Given the description of an element on the screen output the (x, y) to click on. 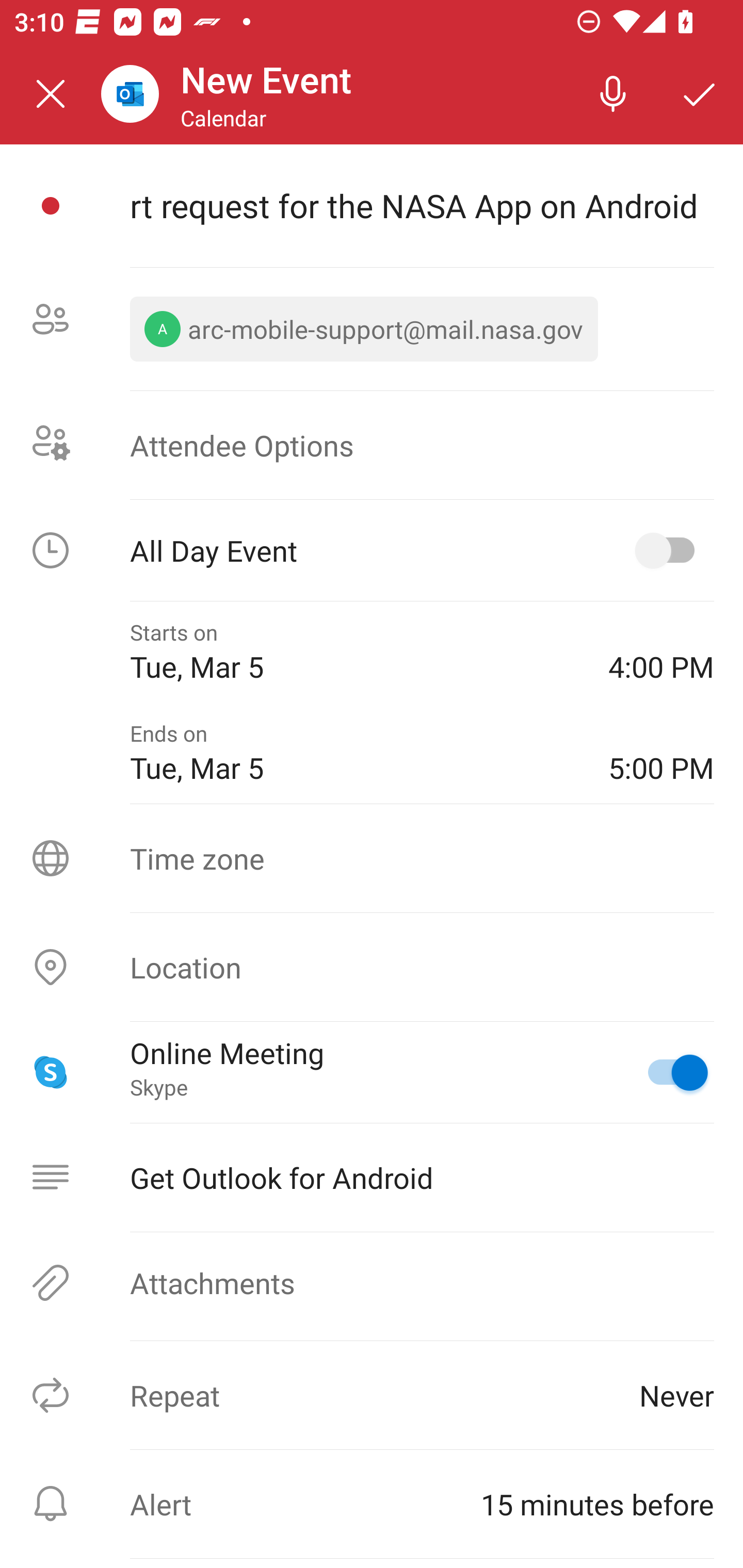
Close (50, 93)
Save (699, 93)
rt request for the NASA App on Android (422, 205)
Event icon picker (50, 206)
Attendee Options (371, 444)
All Day Event (371, 550)
Starts on Tue, Mar 5 (354, 652)
4:00 PM (660, 652)
Ends on Tue, Mar 5 (354, 752)
5:00 PM (660, 752)
Time zone (371, 858)
Location (371, 966)
Online Meeting, Skype selected (669, 1072)
Attachments (371, 1282)
Repeat Never (371, 1394)
Alert ⁨15 minutes before (371, 1504)
